Given the description of an element on the screen output the (x, y) to click on. 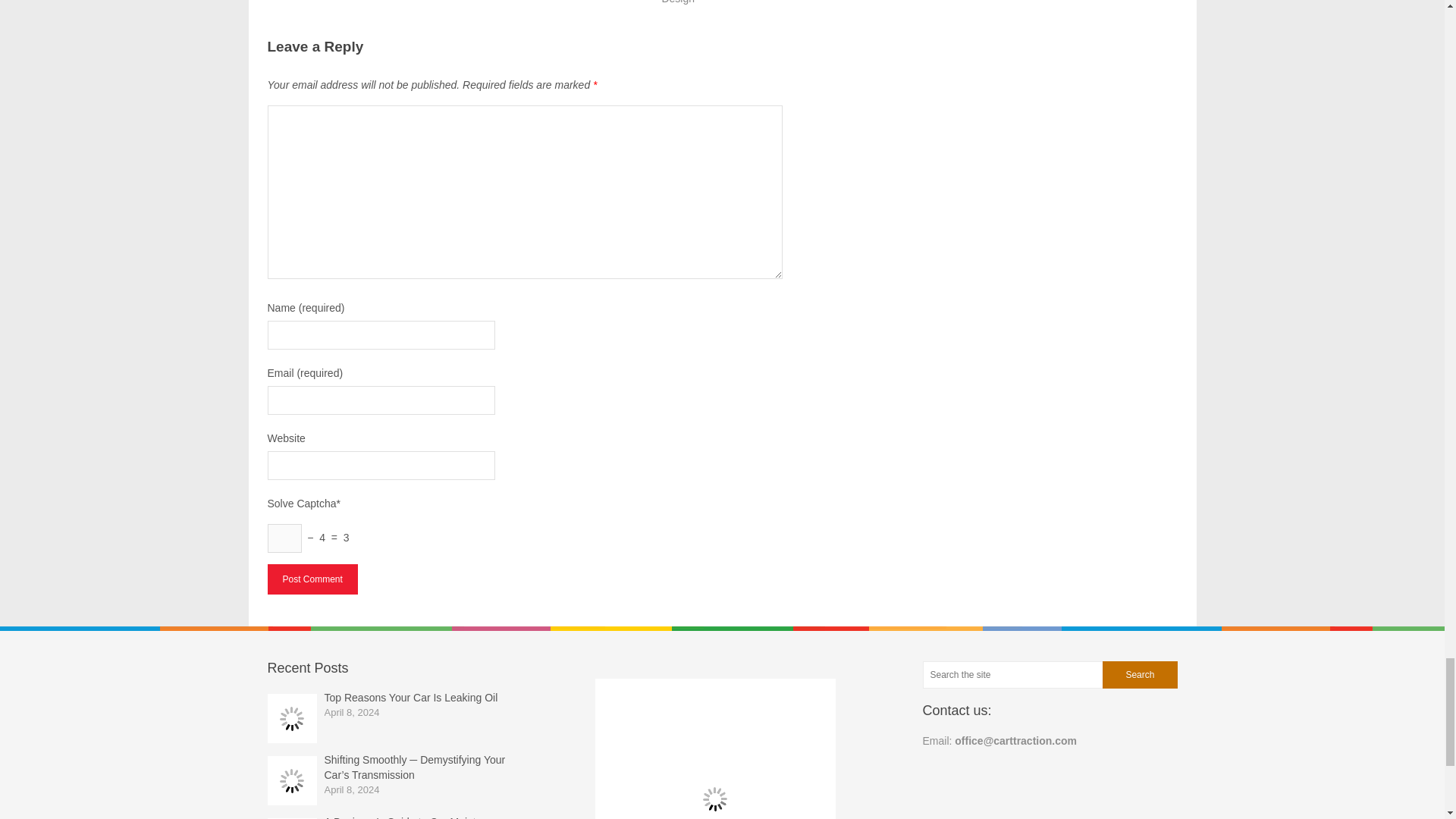
Search (1139, 674)
Post Comment (311, 579)
